Given the description of an element on the screen output the (x, y) to click on. 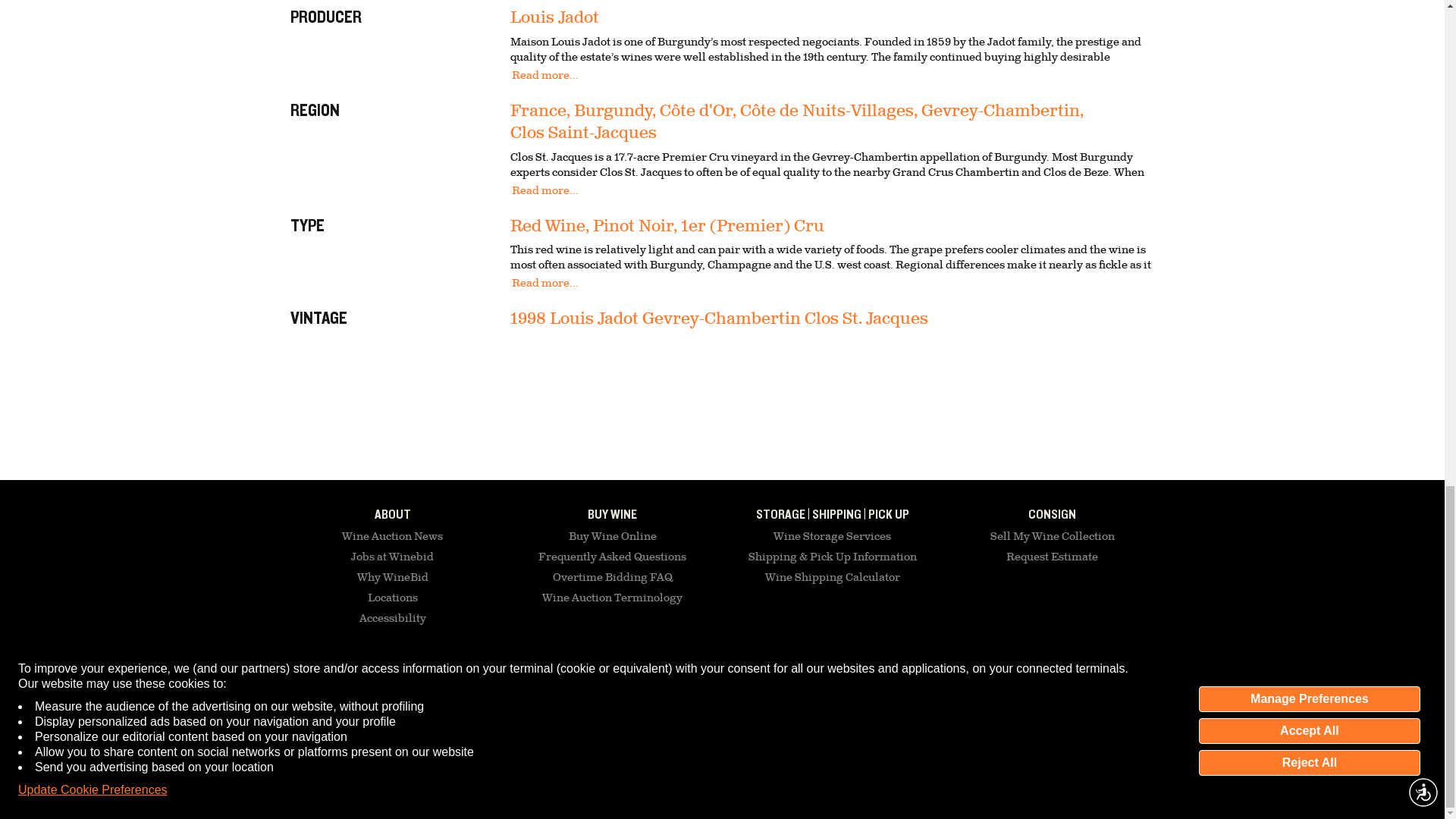
Email (359, 683)
Twitter (1087, 688)
Download on the App Store (985, 688)
Facebook (1048, 688)
Download on the App Store (898, 688)
Call WineBid about selling or buying fine wine. (504, 683)
